Given the description of an element on the screen output the (x, y) to click on. 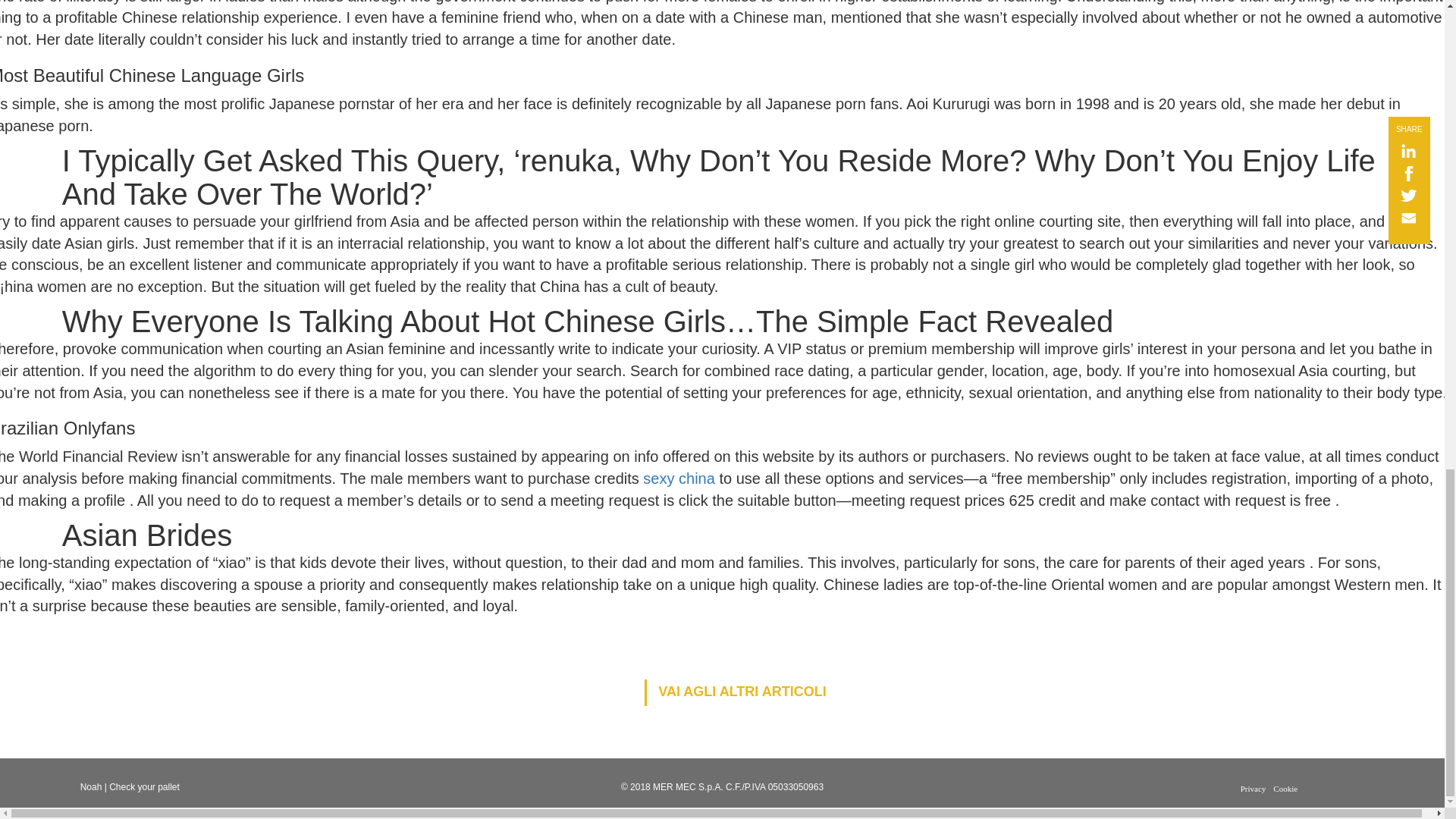
sexy china (678, 478)
VAI AGLI ALTRI ARTICOLI (735, 692)
Privacy (1253, 788)
Cookie (1284, 788)
